Given the description of an element on the screen output the (x, y) to click on. 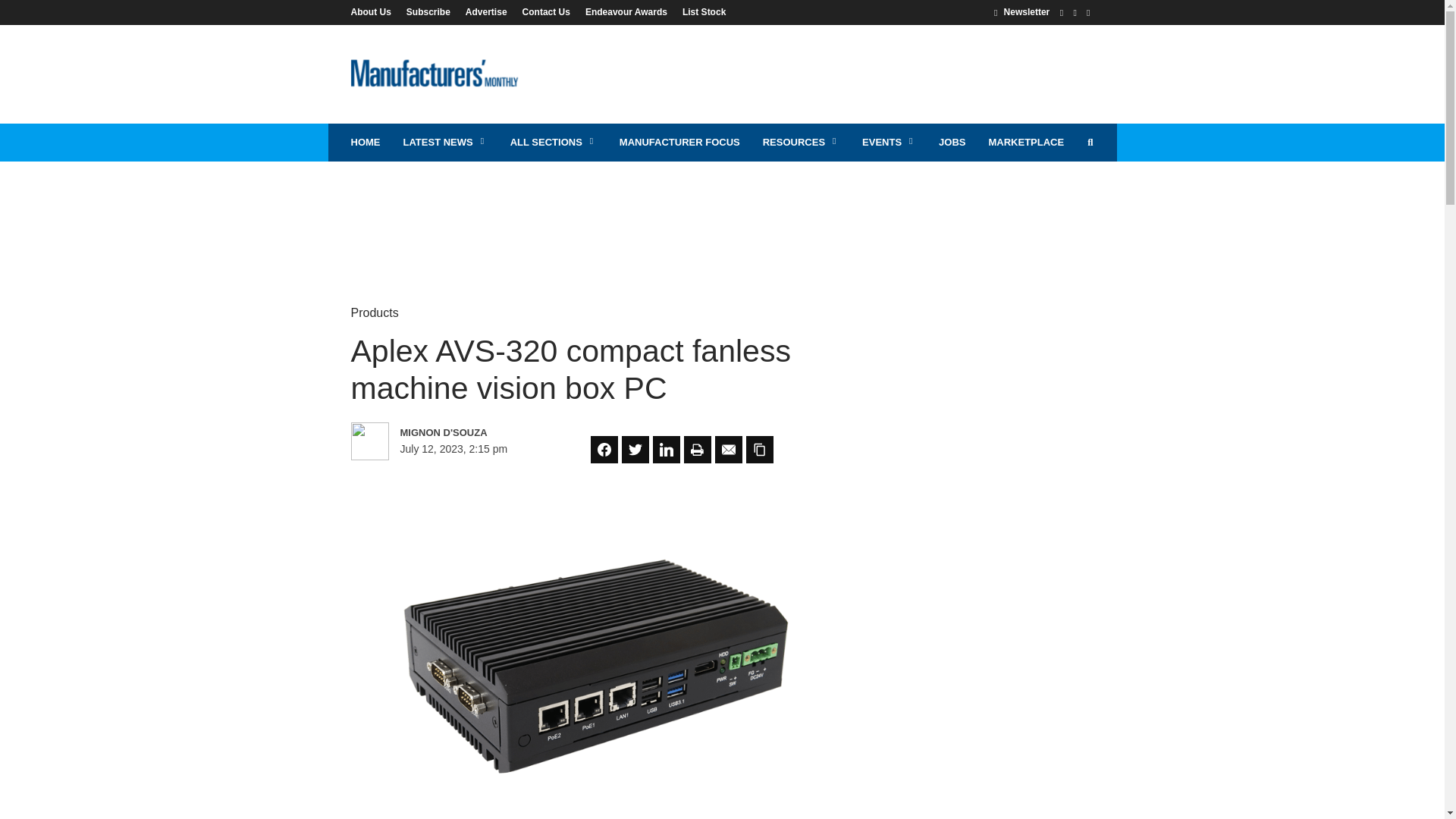
Share on Facebook (604, 449)
List Stock (700, 11)
Share on LinkedIn (665, 449)
View all posts by Mignon D'Souza (465, 432)
Advertise (486, 11)
Subscribe (428, 11)
3rd party ad content (817, 74)
Share on Twitter (635, 449)
ALL SECTIONS (553, 142)
Share on Print (697, 449)
Share on Copy Link (759, 449)
Share on Email (728, 449)
Newsletter (1021, 11)
LATEST NEWS (444, 142)
About Us (373, 11)
